Given the description of an element on the screen output the (x, y) to click on. 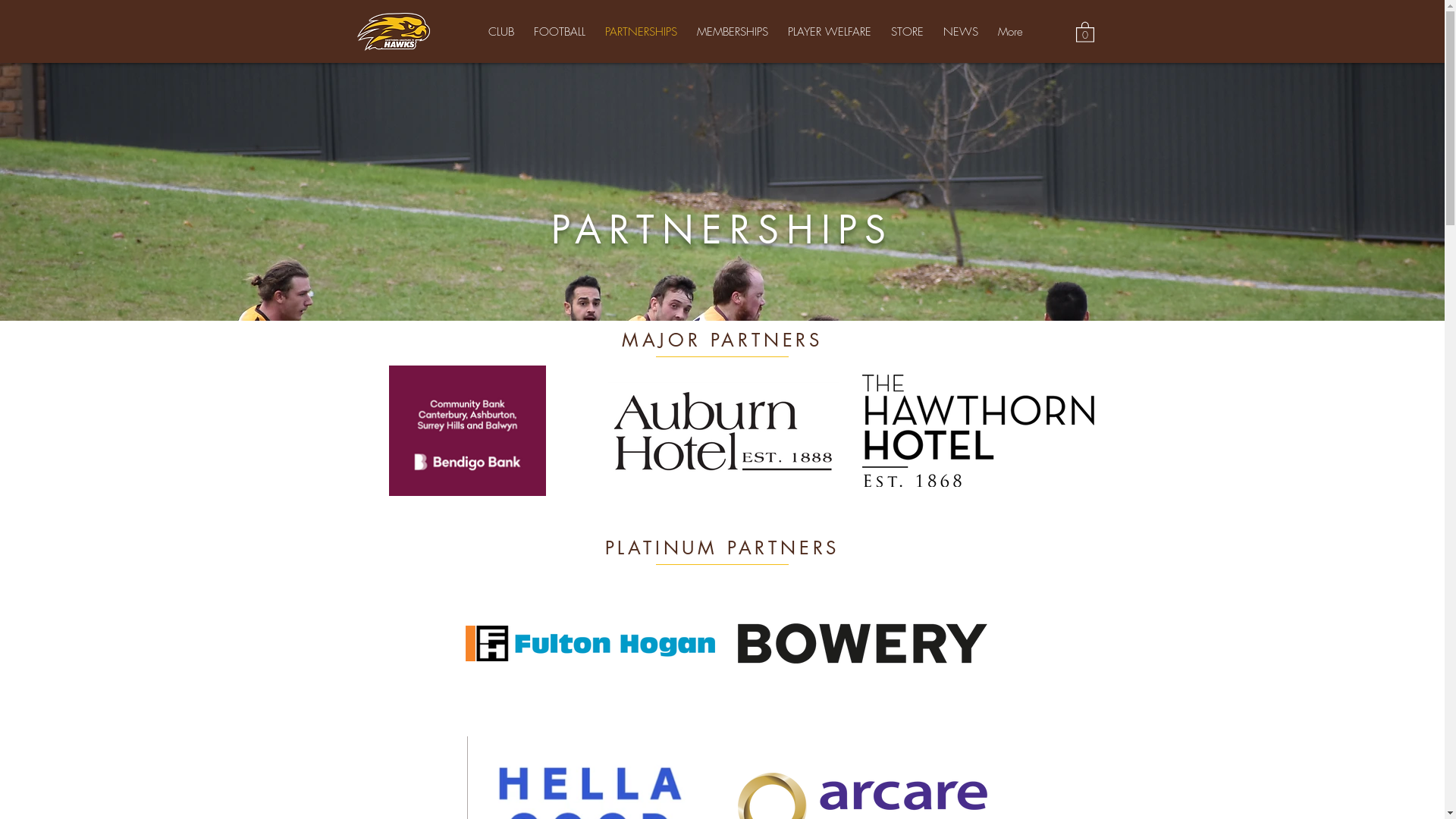
PLAYER WELFARE Element type: text (829, 33)
FOOTBALL Element type: text (559, 33)
NEWS Element type: text (960, 33)
MEMBERSHIPS Element type: text (732, 33)
PARTNERSHIPS Element type: text (641, 33)
CLUB Element type: text (501, 33)
STORE Element type: text (907, 33)
0 Element type: text (1084, 31)
